Given the description of an element on the screen output the (x, y) to click on. 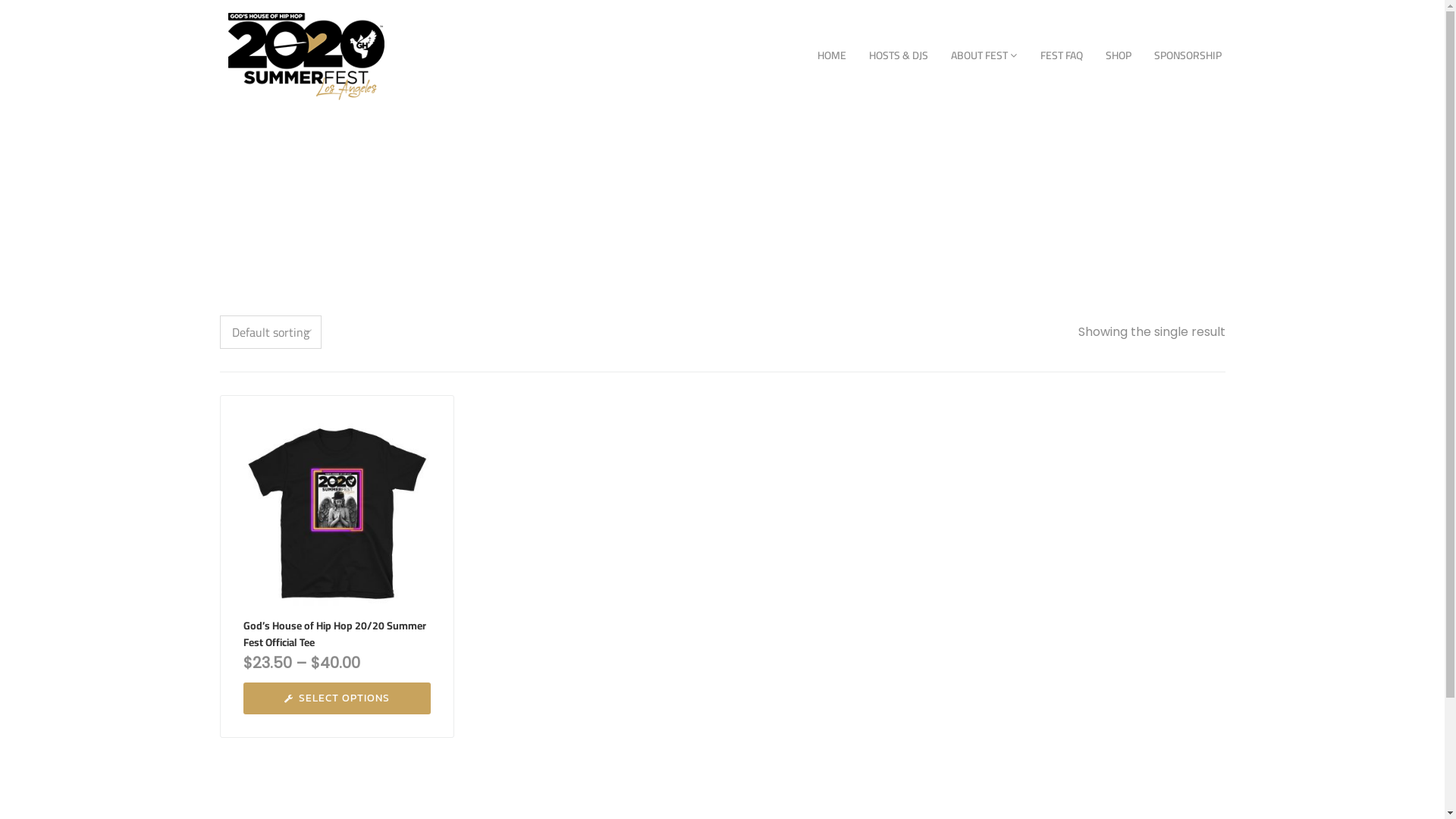
SHOP Element type: text (1117, 55)
ABOUT FEST Element type: text (983, 55)
SPONSORSHIP Element type: text (1186, 55)
HOSTS & DJS Element type: text (897, 55)
HOME Element type: text (830, 55)
FEST FAQ Element type: text (1060, 55)
SELECT OPTIONS Element type: text (335, 698)
